Given the description of an element on the screen output the (x, y) to click on. 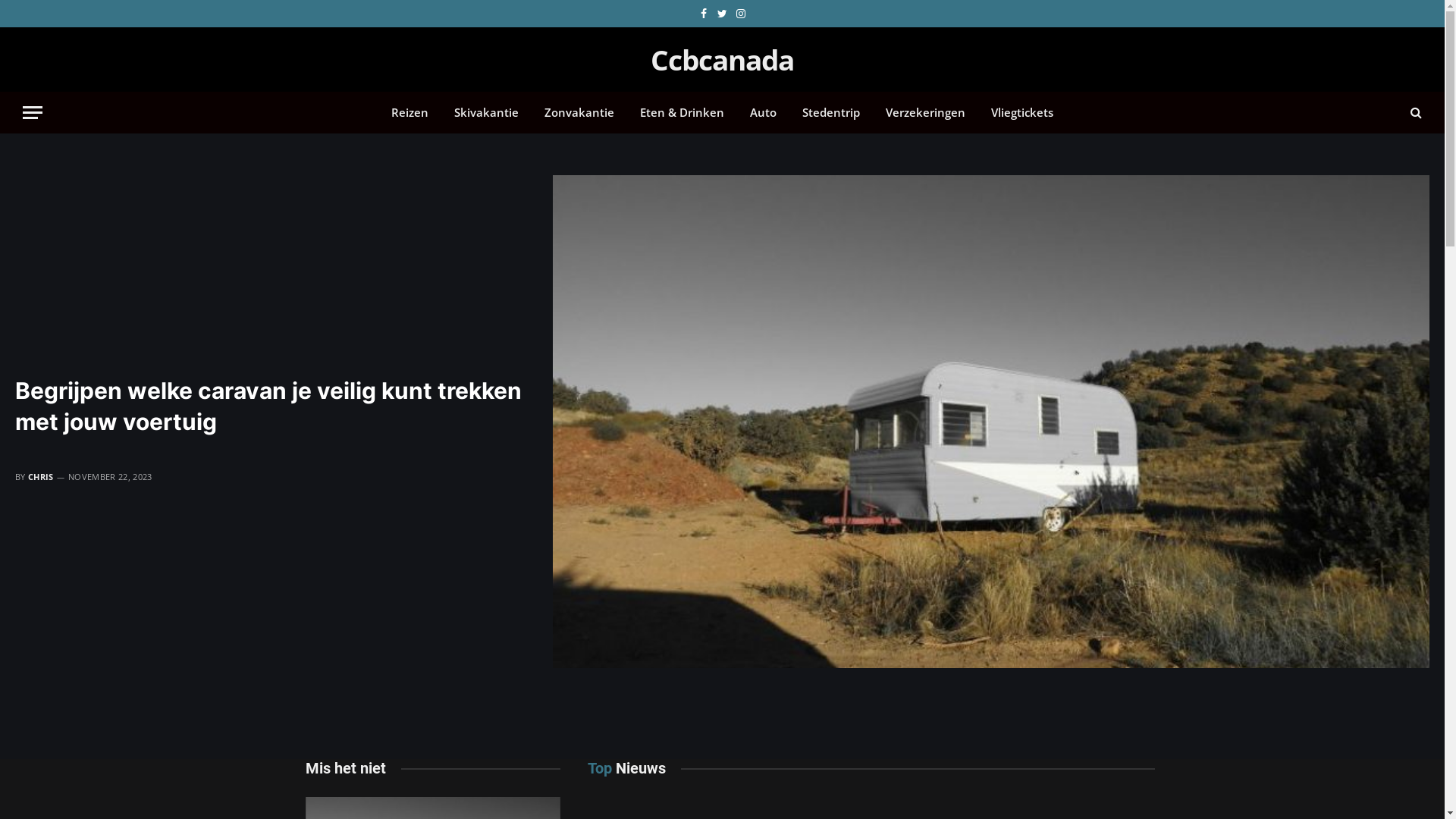
Search Element type: hover (1414, 112)
Eten & Drinken Element type: text (682, 111)
Vliegtickets Element type: text (1022, 111)
CHRIS Element type: text (40, 476)
Skivakantie Element type: text (486, 111)
Verzekeringen Element type: text (925, 111)
Instagram Element type: text (740, 13)
Stedentrip Element type: text (830, 111)
Reizen Element type: text (409, 111)
Facebook Element type: text (703, 13)
Twitter Element type: text (722, 13)
Auto Element type: text (763, 111)
Zonvakantie Element type: text (579, 111)
Ccbcanada Element type: text (721, 59)
